Given the description of an element on the screen output the (x, y) to click on. 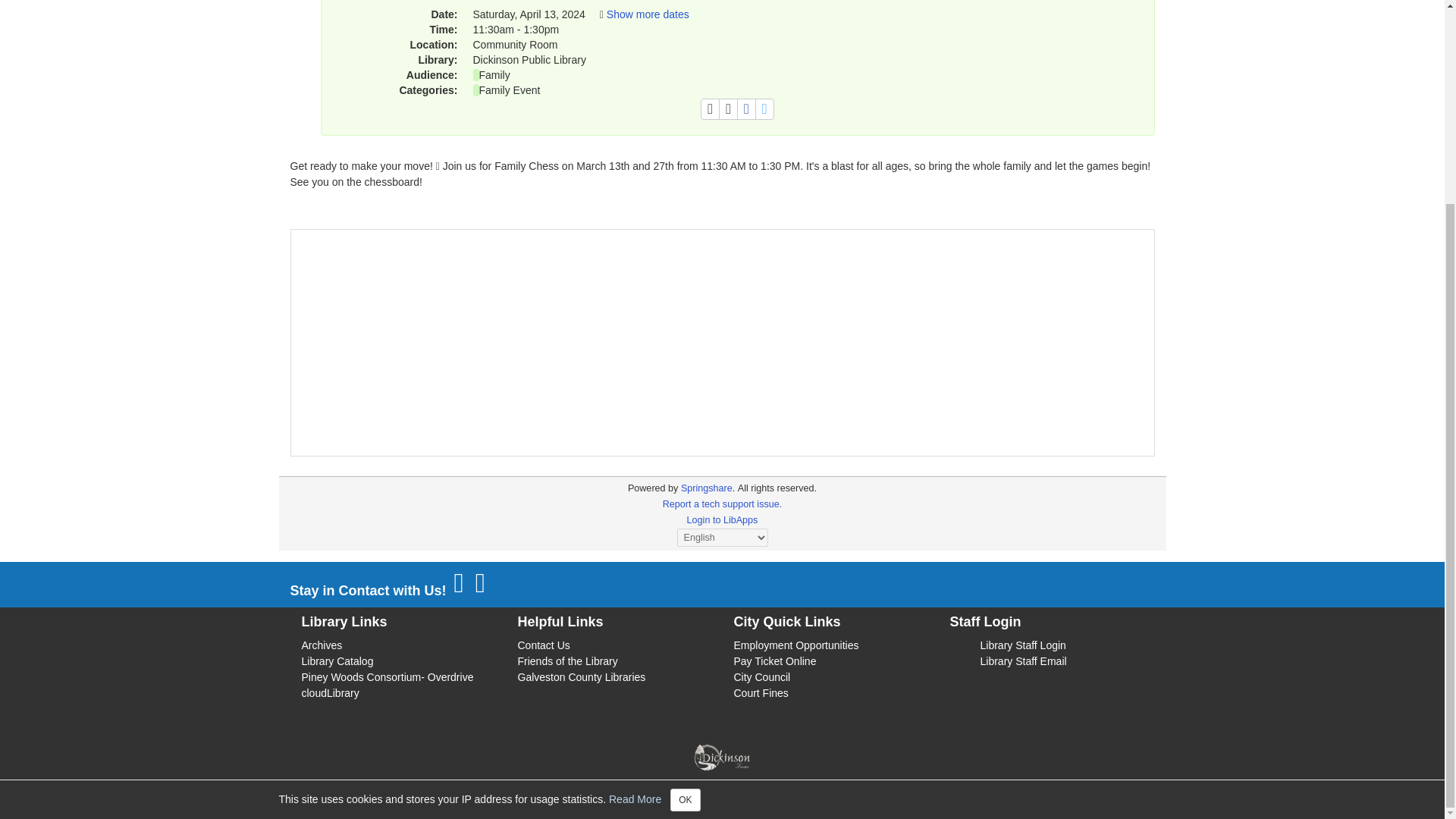
OK (684, 538)
Show more dates (647, 14)
Library Staff Login (1022, 645)
Friends of the Library (566, 661)
Family Event (509, 90)
libcal-us-2 (652, 488)
City of Dickinson (887, 802)
Library Staff Email (1022, 661)
Report a tech support issue. (722, 503)
Login to LibApps (722, 520)
Read More (634, 537)
Dickinson Public Library (607, 802)
Galveston County Libraries (580, 676)
City Council (761, 676)
Archives (321, 645)
